Given the description of an element on the screen output the (x, y) to click on. 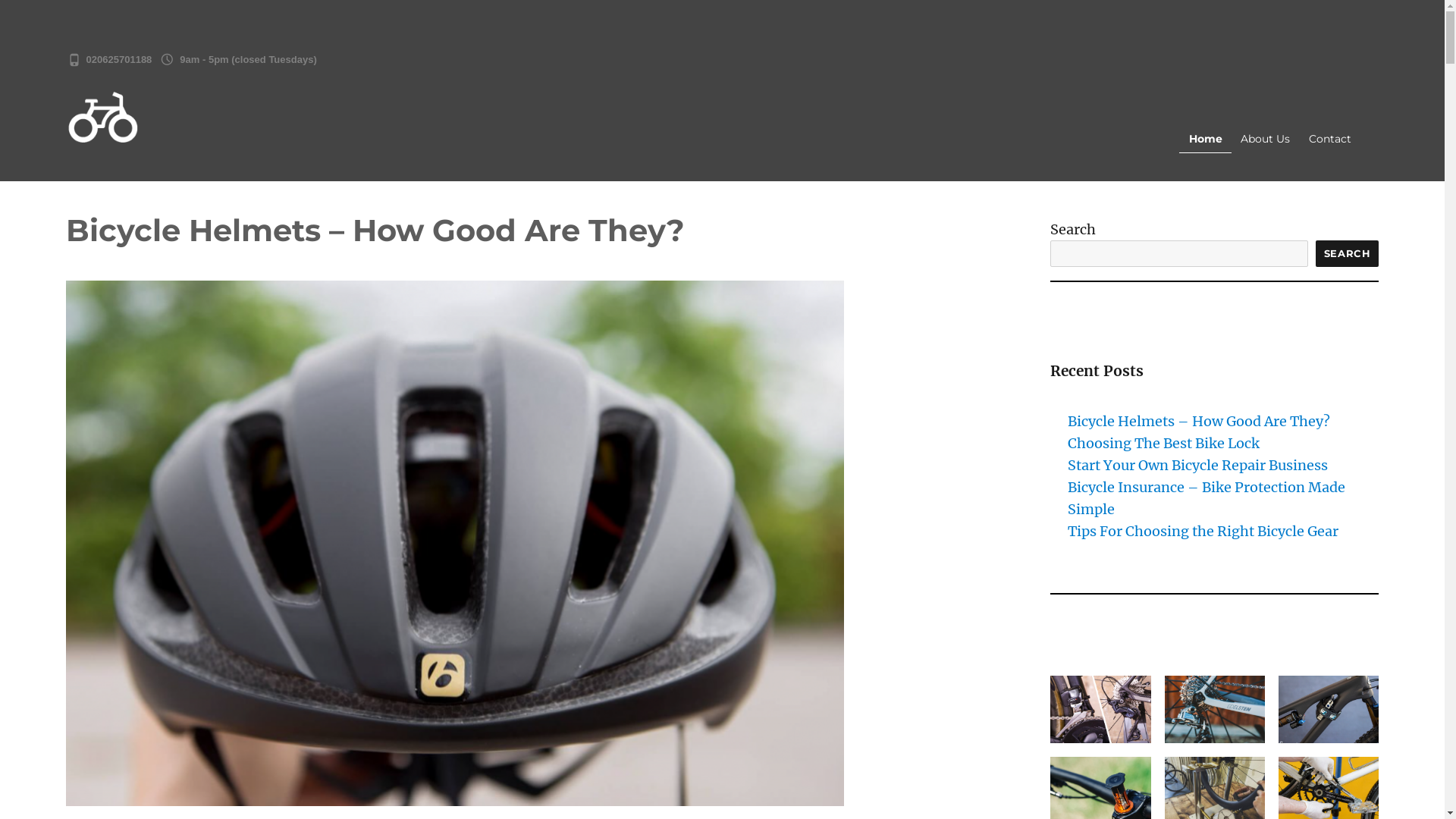
About Us Element type: text (1265, 139)
genericon-phone Element type: hover (73, 58)
Choosing The Best Bike Lock Element type: text (1163, 442)
Home Element type: text (1205, 139)
Tips For Choosing the Right Bicycle Gear Element type: text (1202, 530)
SEARCH Element type: text (1347, 253)
Start Your Own Bicycle Repair Business Element type: text (1197, 464)
Contact Element type: text (1329, 139)
